Given the description of an element on the screen output the (x, y) to click on. 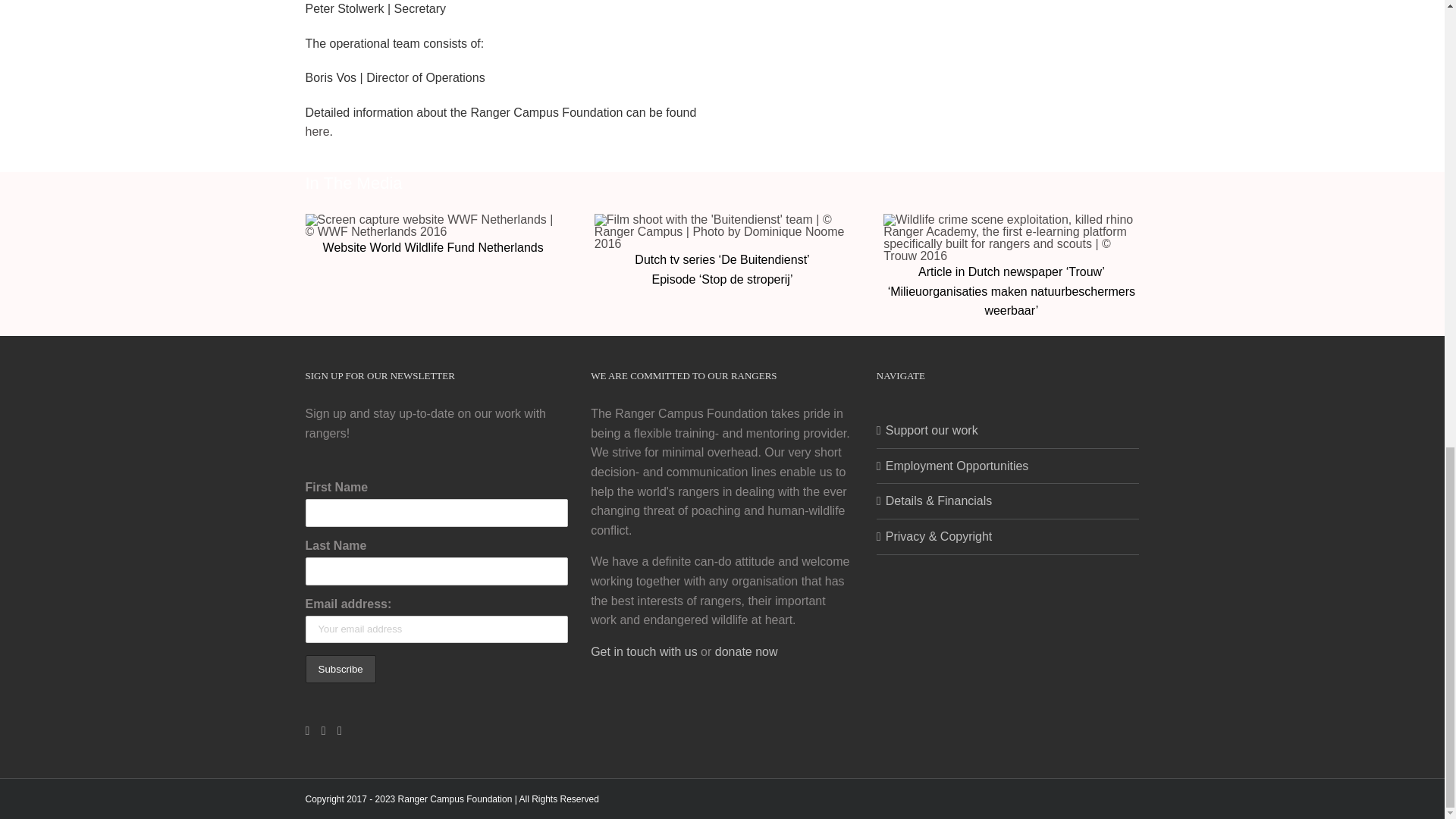
Support our work (1008, 430)
Subscribe (339, 669)
Get in touch with us (644, 651)
Subscribe (339, 669)
donate now (745, 651)
Employment Opportunities (1008, 465)
here (316, 131)
